Given the description of an element on the screen output the (x, y) to click on. 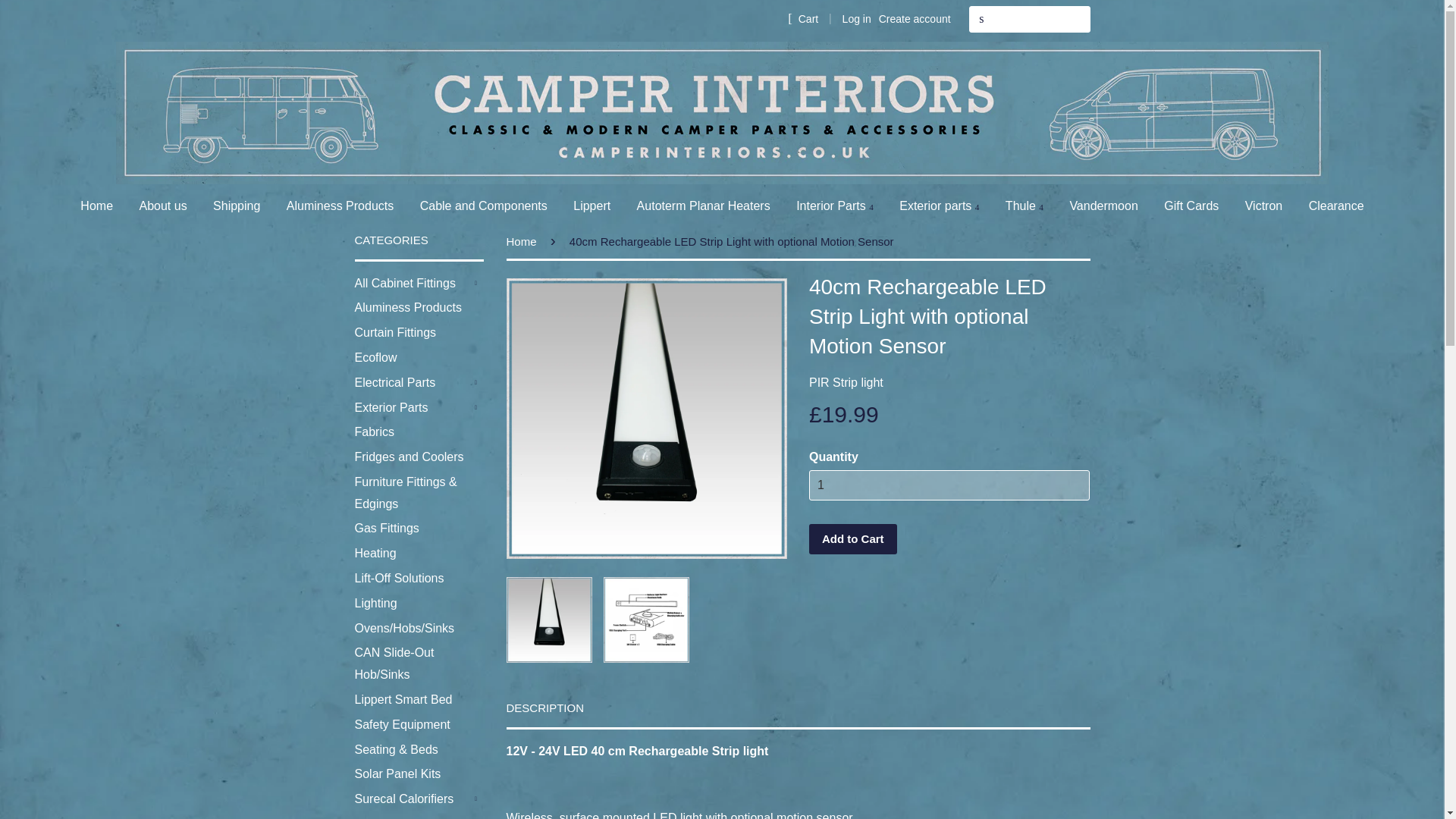
Create account (914, 19)
Back to the frontpage (523, 241)
Search (980, 18)
1 (949, 485)
Log in (856, 19)
Cart (802, 18)
